Given the description of an element on the screen output the (x, y) to click on. 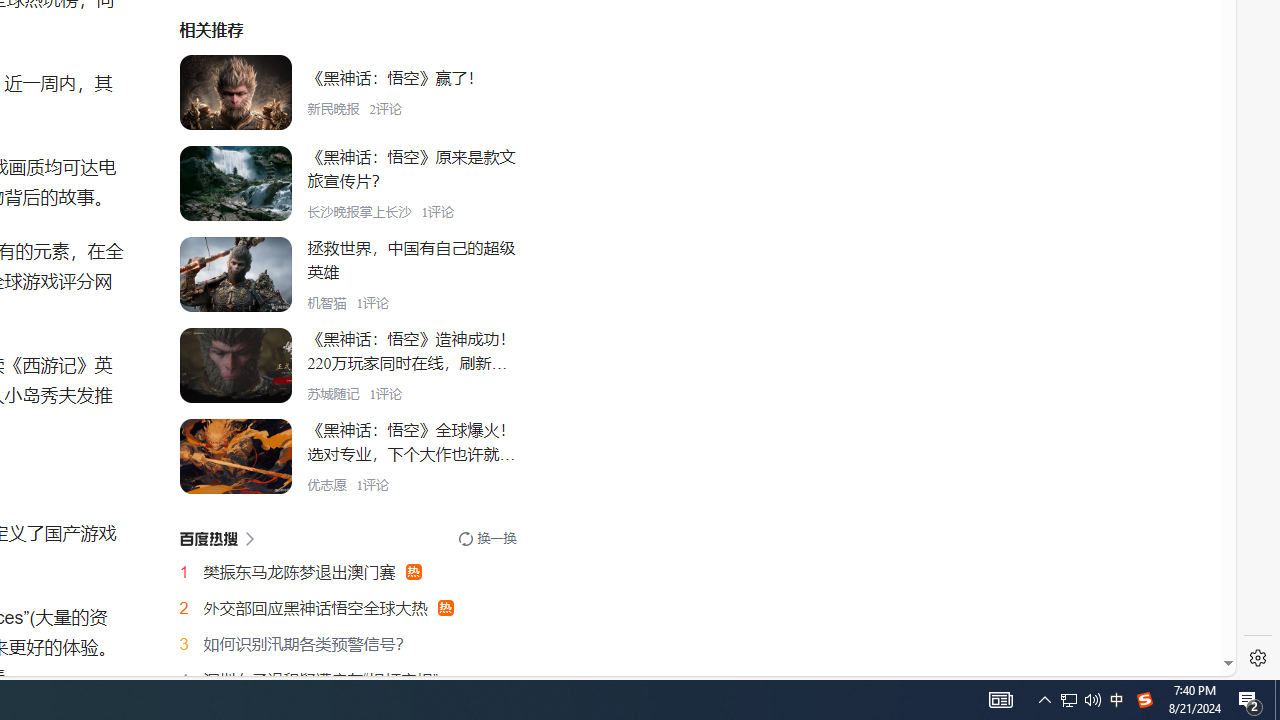
Class: XDq7y (235, 456)
